Given the description of an element on the screen output the (x, y) to click on. 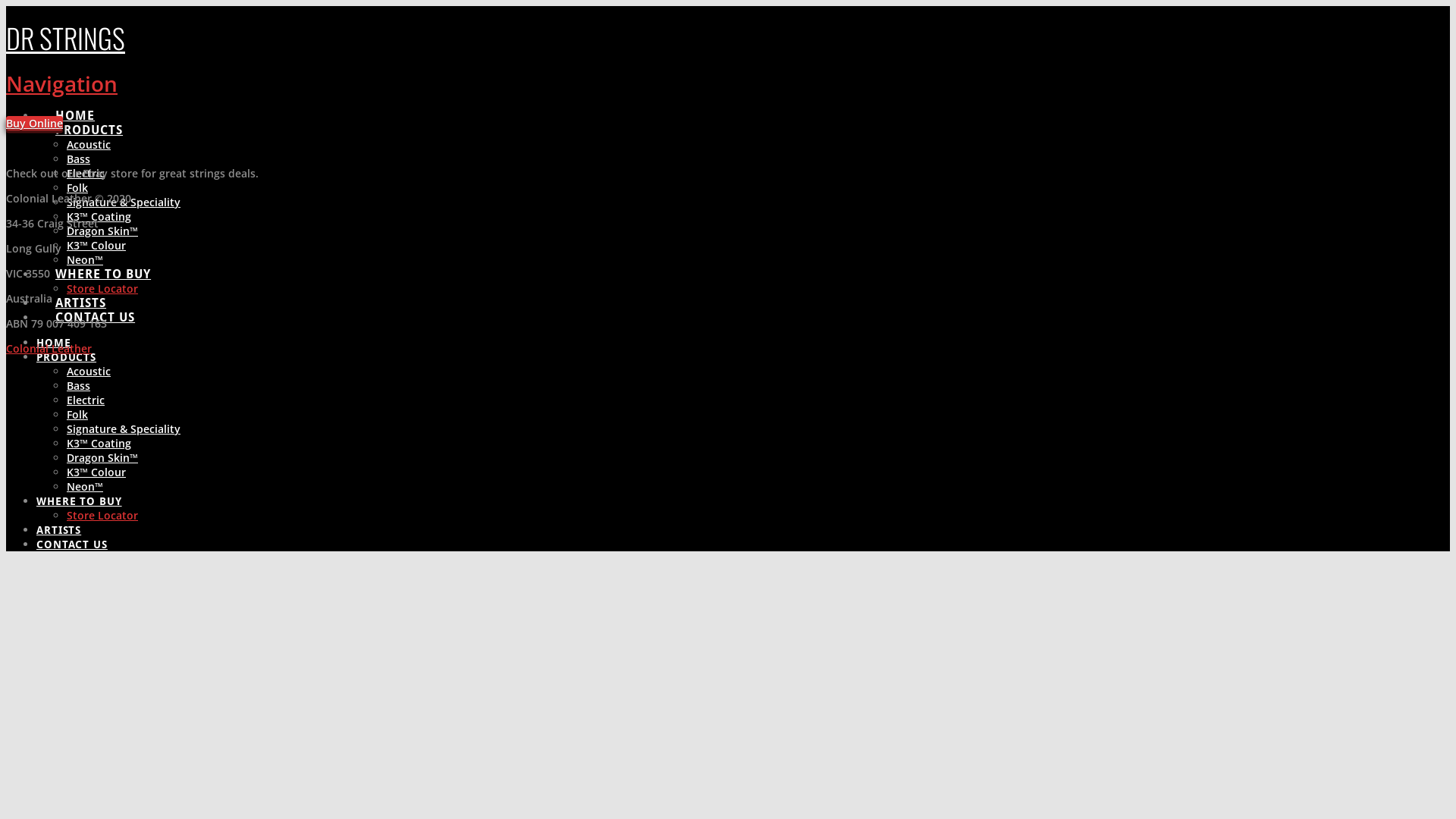
PRODUCTS Element type: text (88, 121)
Buy Online Element type: text (34, 123)
HOME Element type: text (74, 106)
Store Locator Element type: text (102, 515)
Bass Element type: text (78, 385)
Folk Element type: text (76, 414)
WHERE TO BUY Element type: text (102, 265)
ARTISTS Element type: text (80, 294)
Signature & Speciality Element type: text (123, 201)
CONTACT US Element type: text (94, 308)
Electric Element type: text (85, 399)
Folk Element type: text (76, 187)
Electric Element type: text (85, 173)
CONTACT US Element type: text (71, 544)
Acoustic Element type: text (88, 371)
Acoustic Element type: text (88, 144)
Colonial Leather Element type: text (48, 348)
ARTISTS Element type: text (58, 530)
Navigation Element type: text (61, 83)
Bass Element type: text (78, 158)
PRODUCTS Element type: text (66, 357)
Signature & Speciality Element type: text (123, 428)
HOME Element type: text (53, 342)
DR STRINGS Element type: text (65, 37)
Store Locator Element type: text (102, 288)
WHERE TO BUY Element type: text (79, 501)
